Given the description of an element on the screen output the (x, y) to click on. 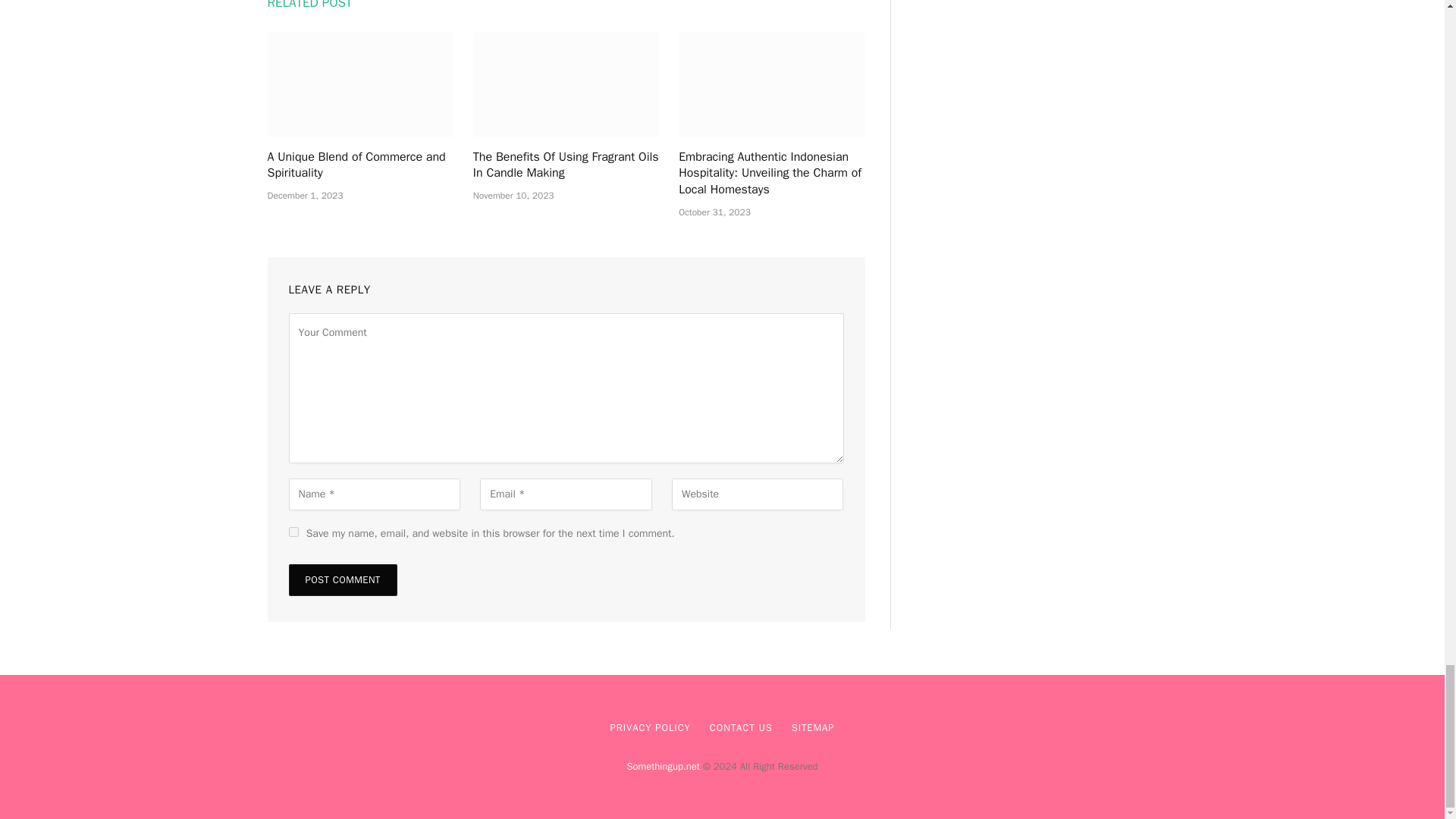
yes (293, 532)
Post Comment (342, 580)
